Given the description of an element on the screen output the (x, y) to click on. 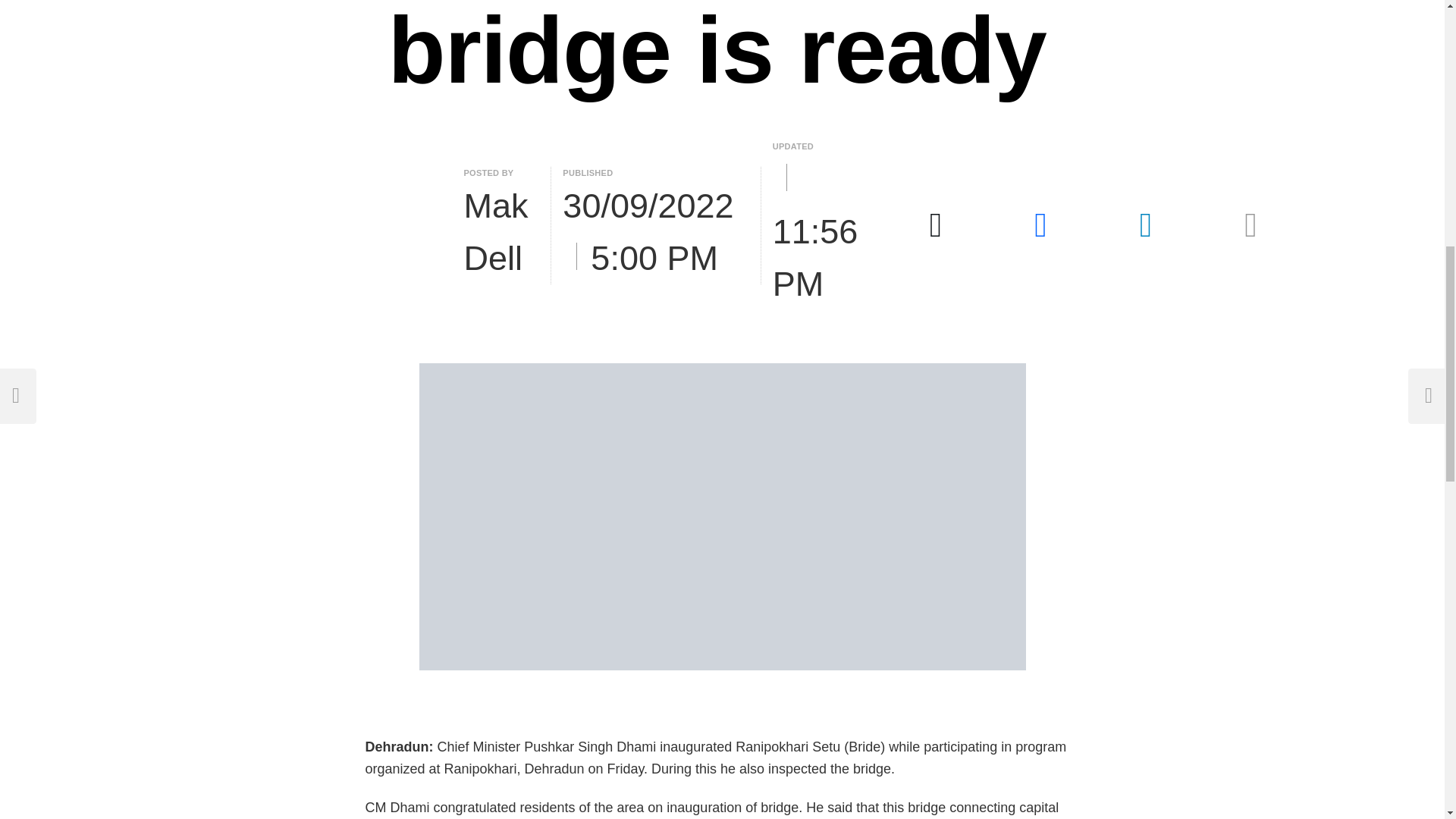
Share this post (1250, 225)
Share on LinkedIn (1145, 225)
Share on facebook (1040, 225)
